Given the description of an element on the screen output the (x, y) to click on. 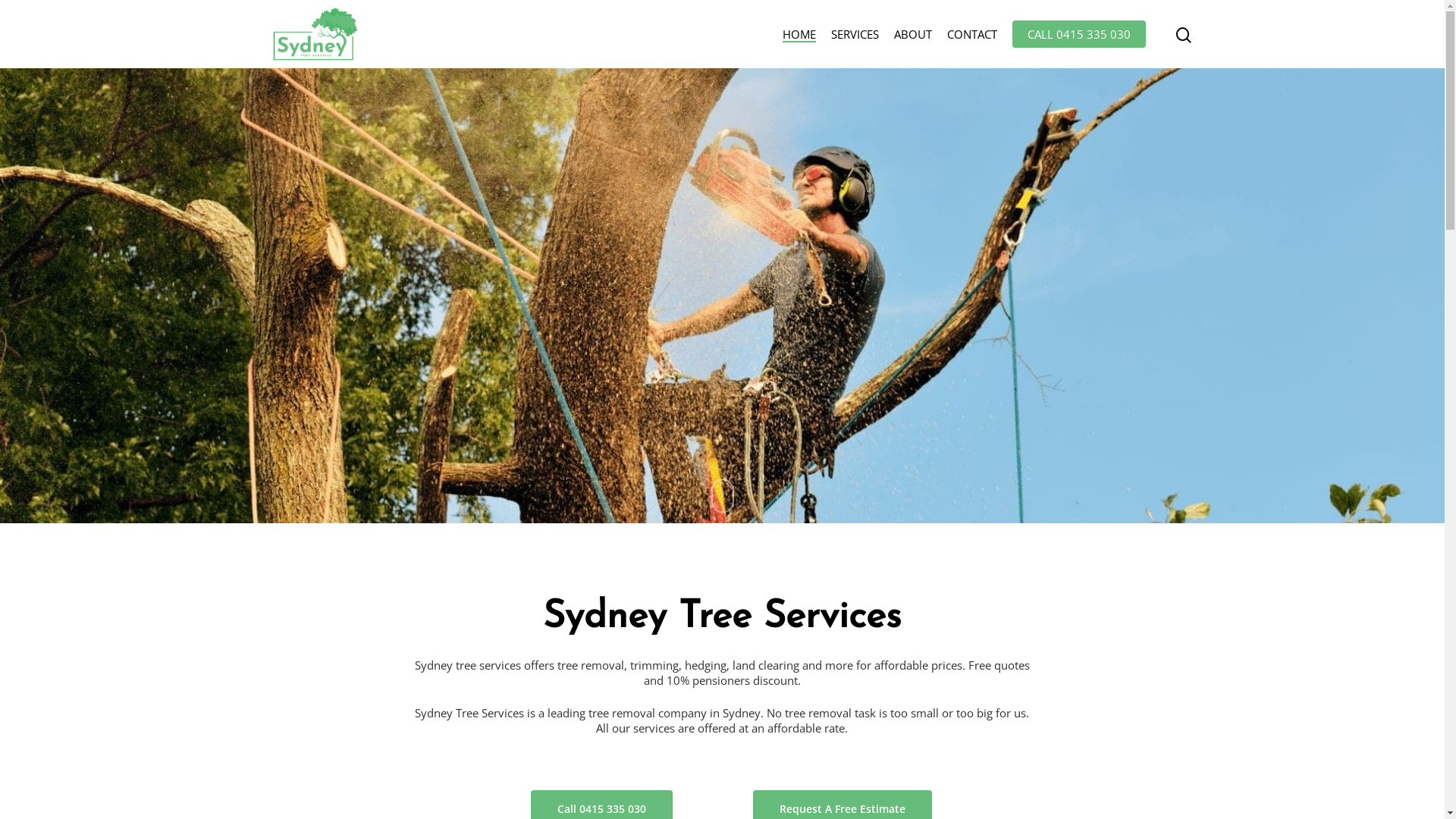
ABOUT Element type: text (912, 34)
CONTACT Element type: text (972, 34)
SERVICES Element type: text (854, 34)
HOME Element type: text (798, 34)
CALL 0415 335 030 Element type: text (1078, 34)
